Given the description of an element on the screen output the (x, y) to click on. 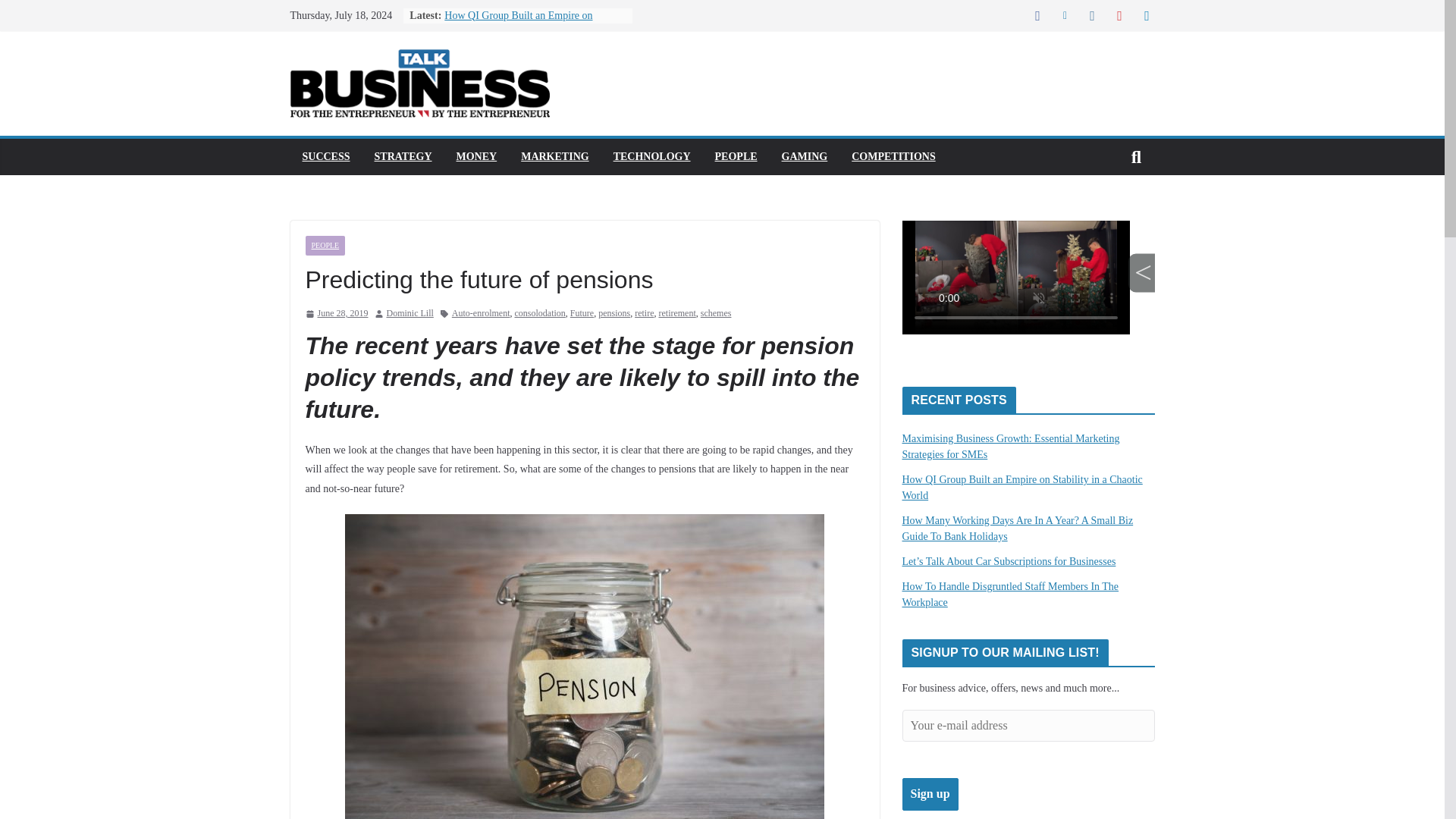
5:04 pm (336, 313)
SUCCESS (325, 156)
How QI Group Built an Empire on Stability in a Chaotic World (518, 22)
TECHNOLOGY (651, 156)
PEOPLE (324, 245)
Auto-enrolment (481, 313)
PEOPLE (735, 156)
How QI Group Built an Empire on Stability in a Chaotic World (518, 22)
Sign up (930, 794)
Future (582, 313)
Dominic Lill (410, 313)
June 28, 2019 (336, 313)
3rd party ad content (1028, 291)
schemes (716, 313)
retirement (676, 313)
